Given the description of an element on the screen output the (x, y) to click on. 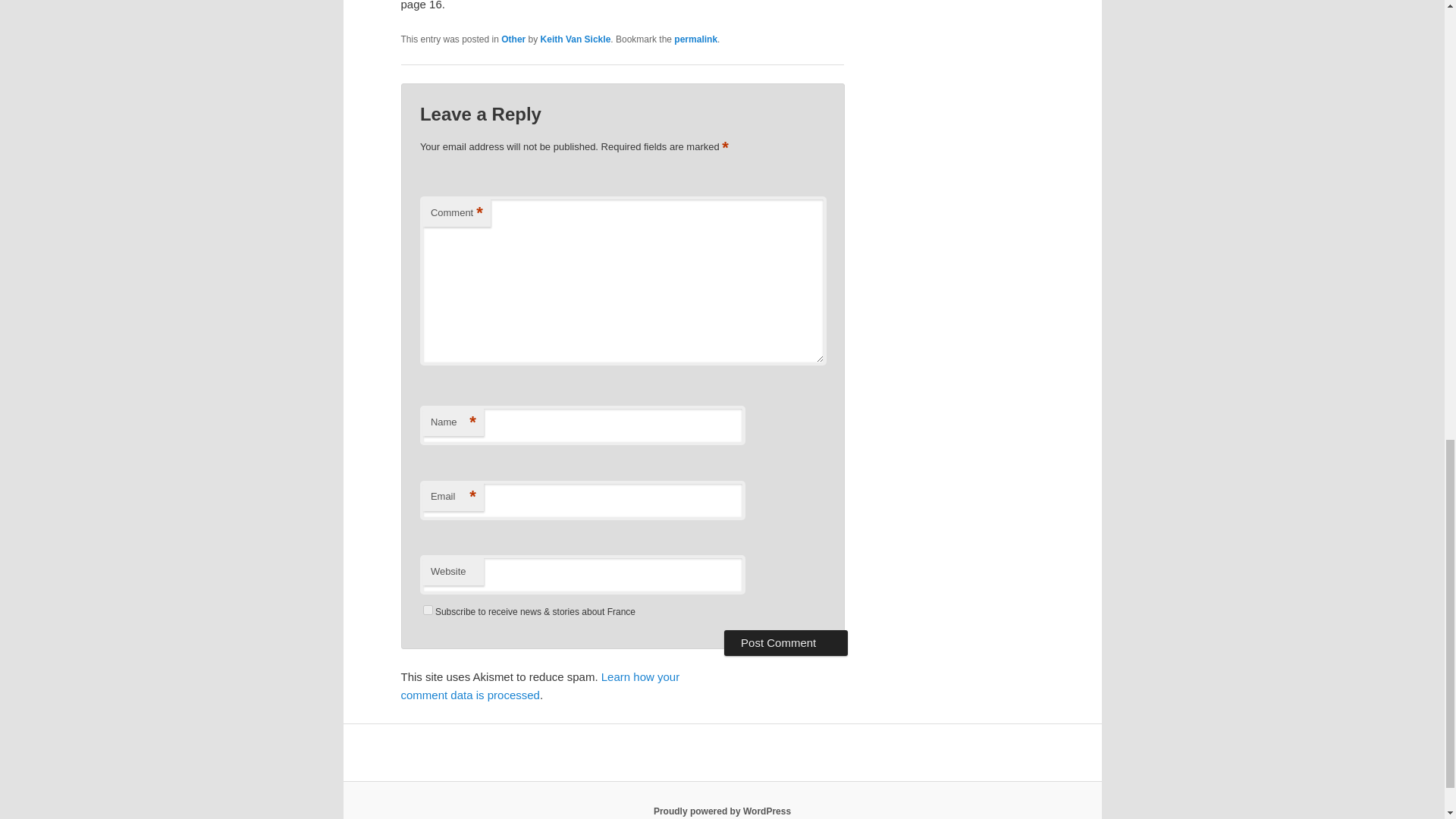
permalink (695, 39)
Permalink to Visiting Provence Without a Car (695, 39)
Other (512, 39)
Post Comment (785, 642)
Post Comment (785, 642)
Keith Van Sickle (575, 39)
1 (427, 610)
Proudly powered by WordPress (721, 810)
Learn how your comment data is processed (539, 685)
Semantic Personal Publishing Platform (721, 810)
